Given the description of an element on the screen output the (x, y) to click on. 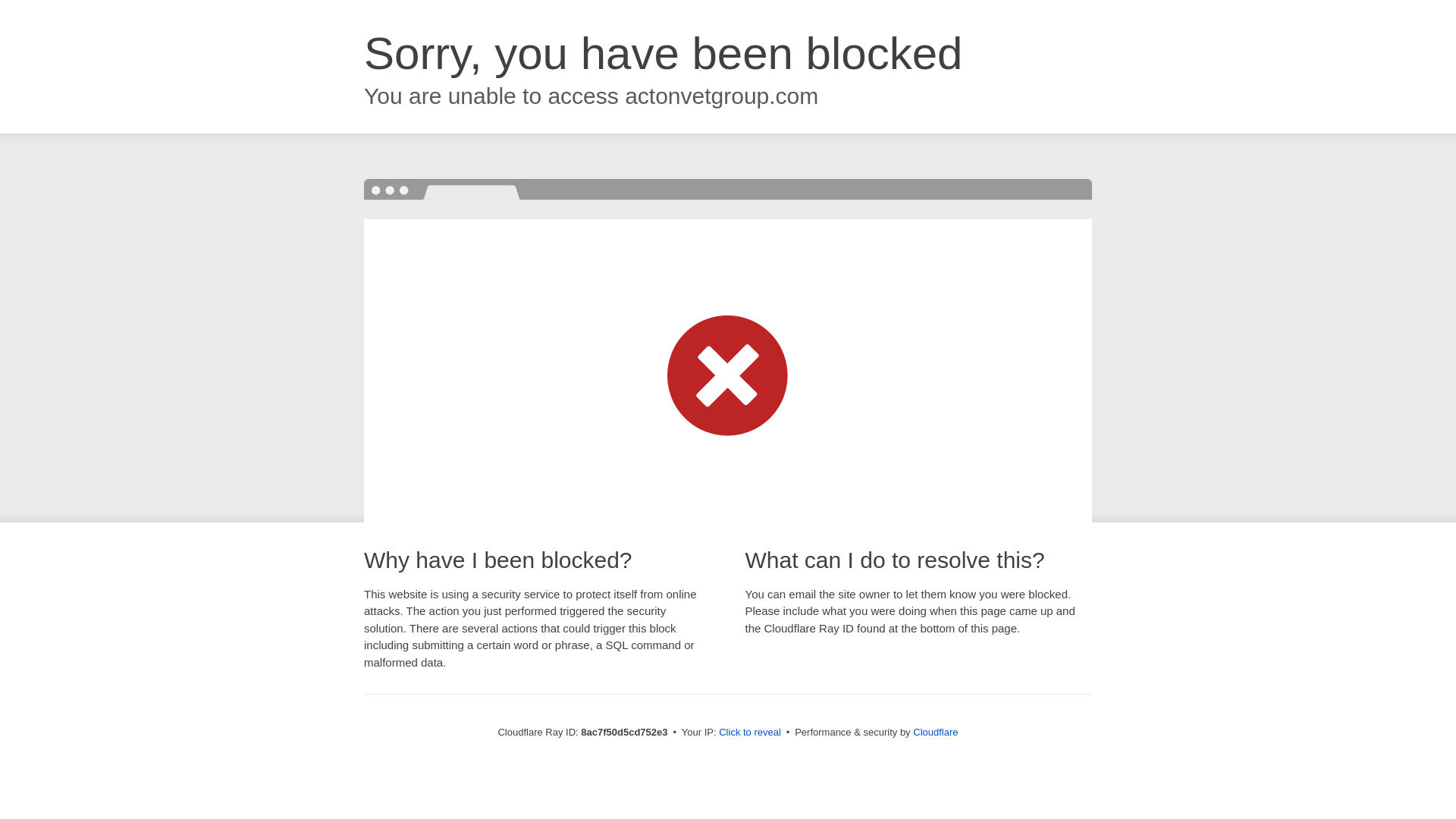
Click to reveal (749, 732)
Cloudflare (935, 731)
